Given the description of an element on the screen output the (x, y) to click on. 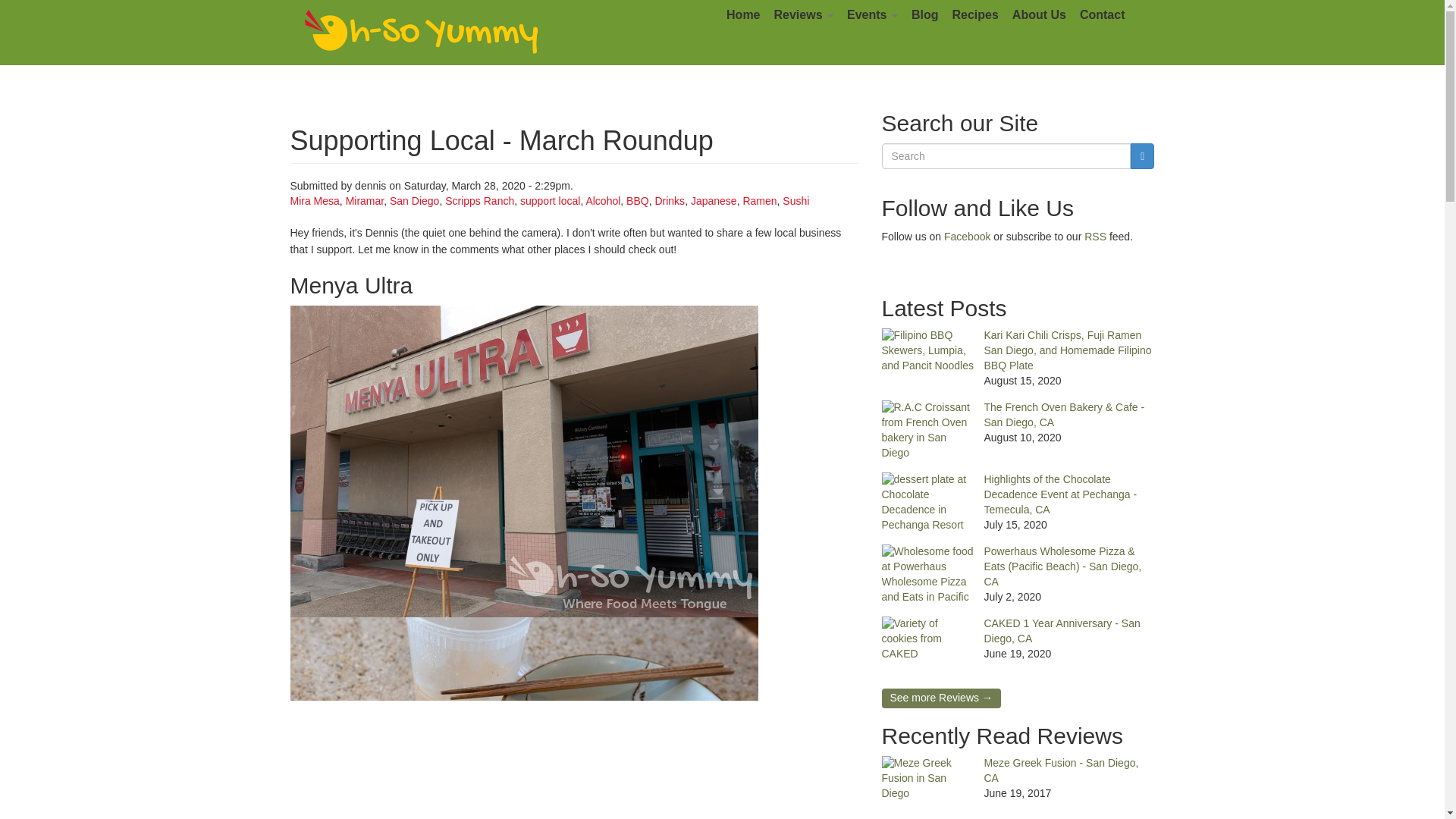
Alcohol (602, 200)
Home (421, 31)
Ramen (759, 200)
Events (872, 15)
BBQ (637, 200)
Japanese (713, 200)
Home (743, 15)
Sushi (796, 200)
About Us (1039, 15)
Drinks (668, 200)
Menya Ultra Chashu Tonkotsu Ramen deconstructed (574, 718)
Menya Ultra Chashu Tonkotsu Ramen deconstructed (523, 718)
support local (549, 200)
